Given the description of an element on the screen output the (x, y) to click on. 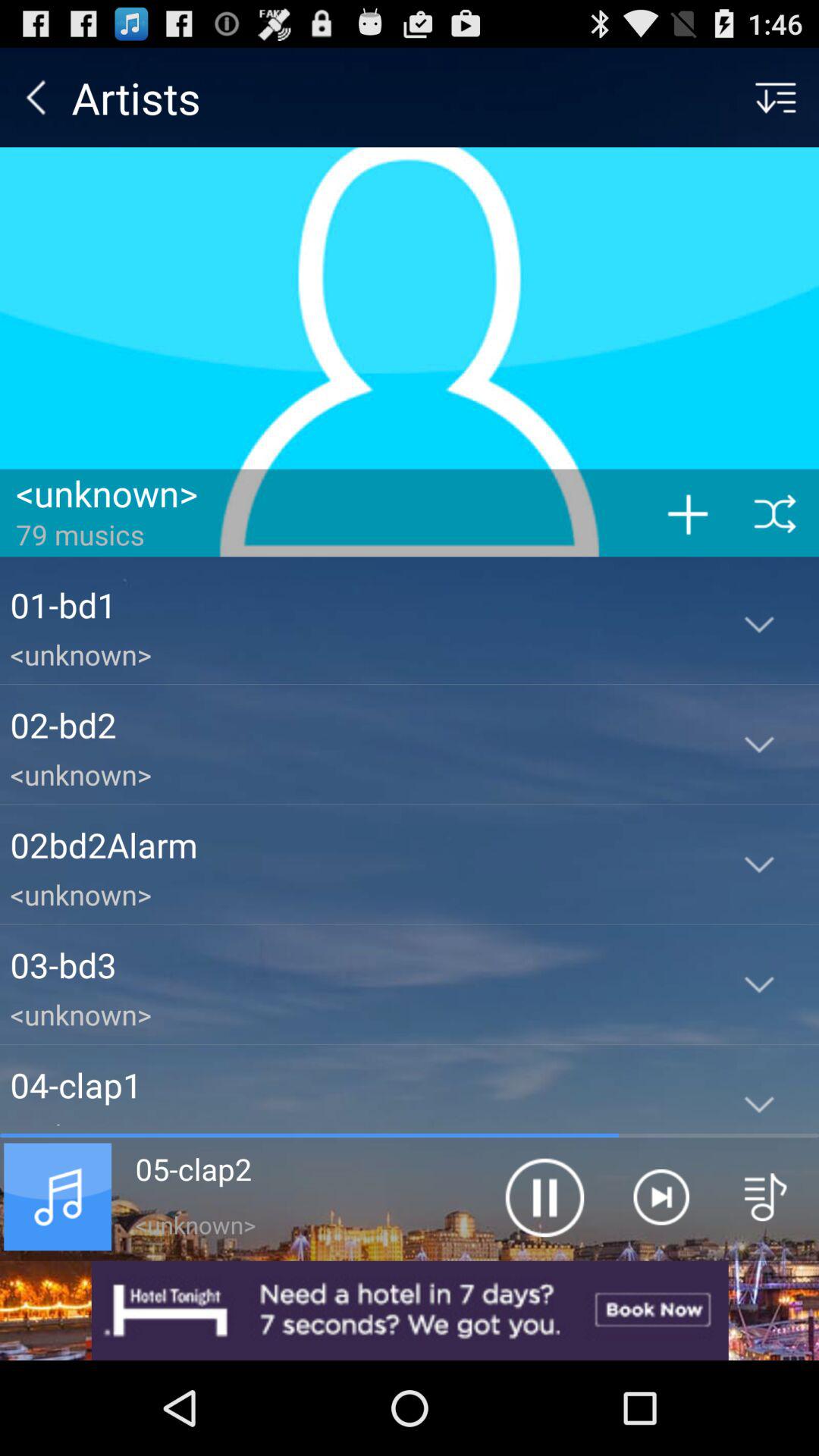
flip to the 02bd2alarm app (354, 844)
